Given the description of an element on the screen output the (x, y) to click on. 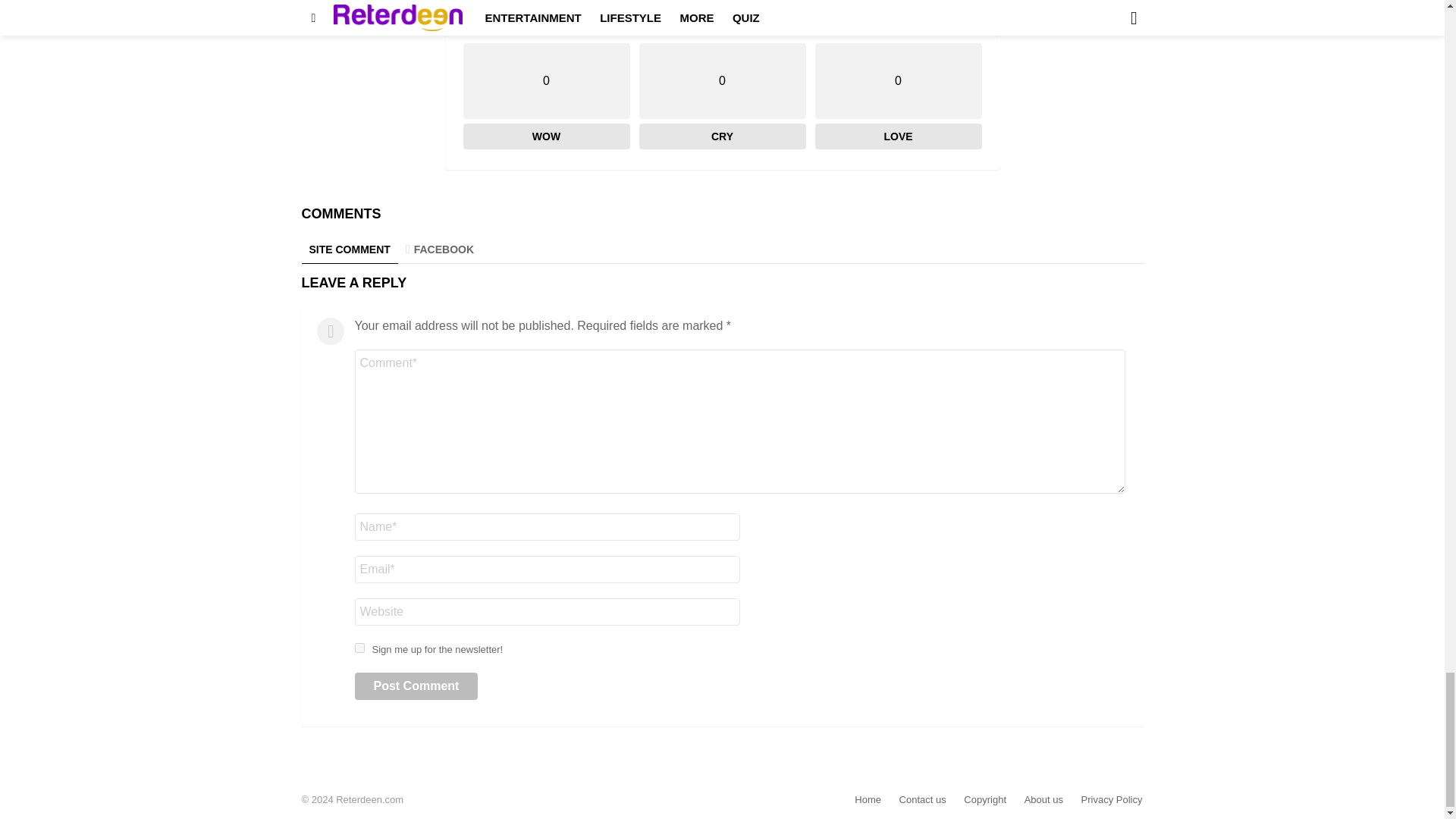
Post Comment (417, 686)
1 (360, 647)
